Given the description of an element on the screen output the (x, y) to click on. 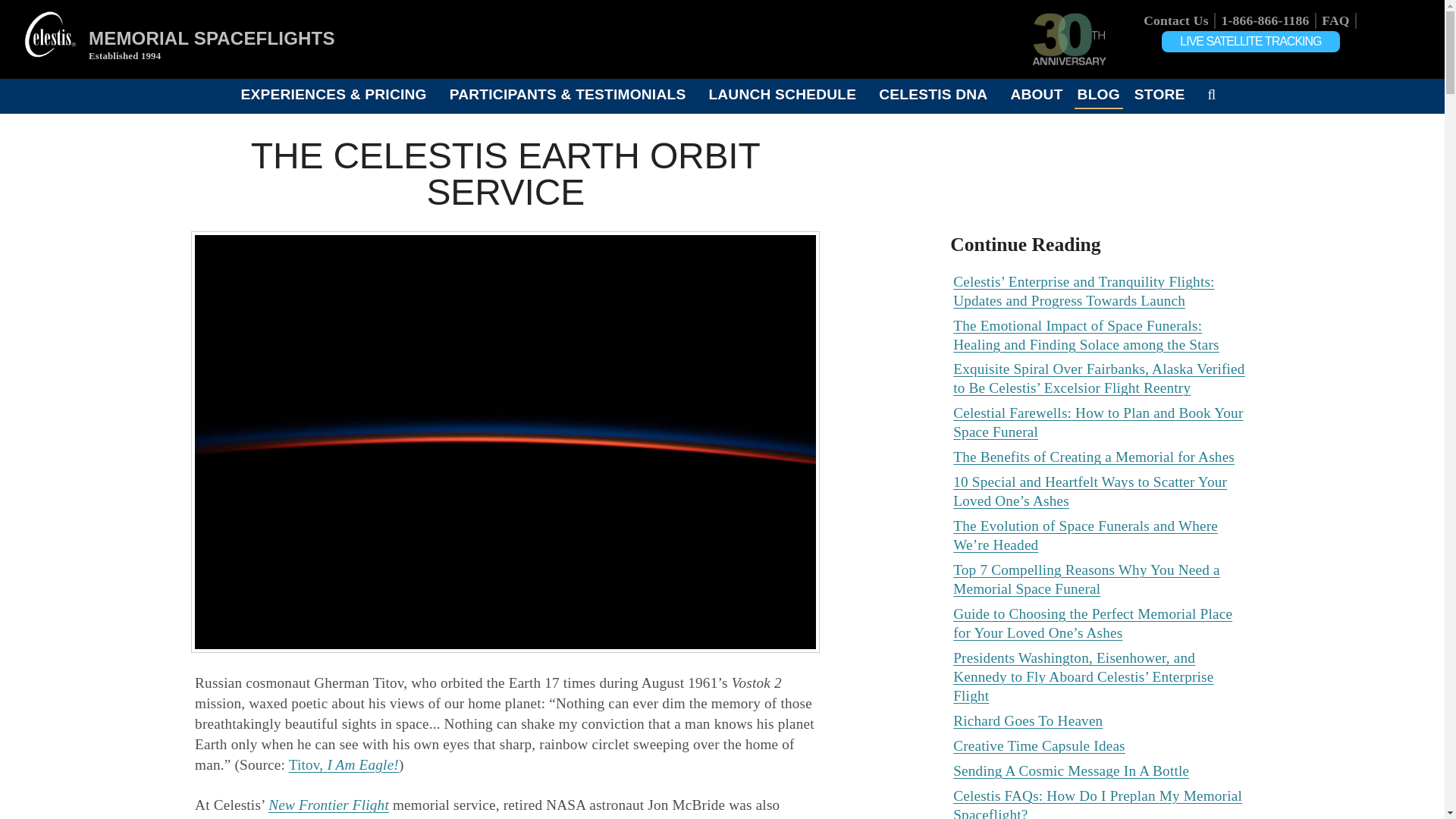
Titov, I Am Eagle! (343, 764)
1-866-866-1186 (1264, 20)
OPEN SEARCH DIALOG (1211, 94)
LAUNCH SCHEDULE (782, 94)
STORE (1159, 94)
MEMORIAL SPACEFLIGHTS (211, 38)
FAQ (1335, 20)
CELESTIS DNA (932, 94)
BLOG (1098, 94)
New Frontier Flight (327, 804)
ABOUT (1036, 94)
Contact Us (1175, 20)
I am Eagle!: Titov, G. S: 9781114672529: Books (343, 764)
LIVE SATELLITE TRACKING (1250, 41)
